Given the description of an element on the screen output the (x, y) to click on. 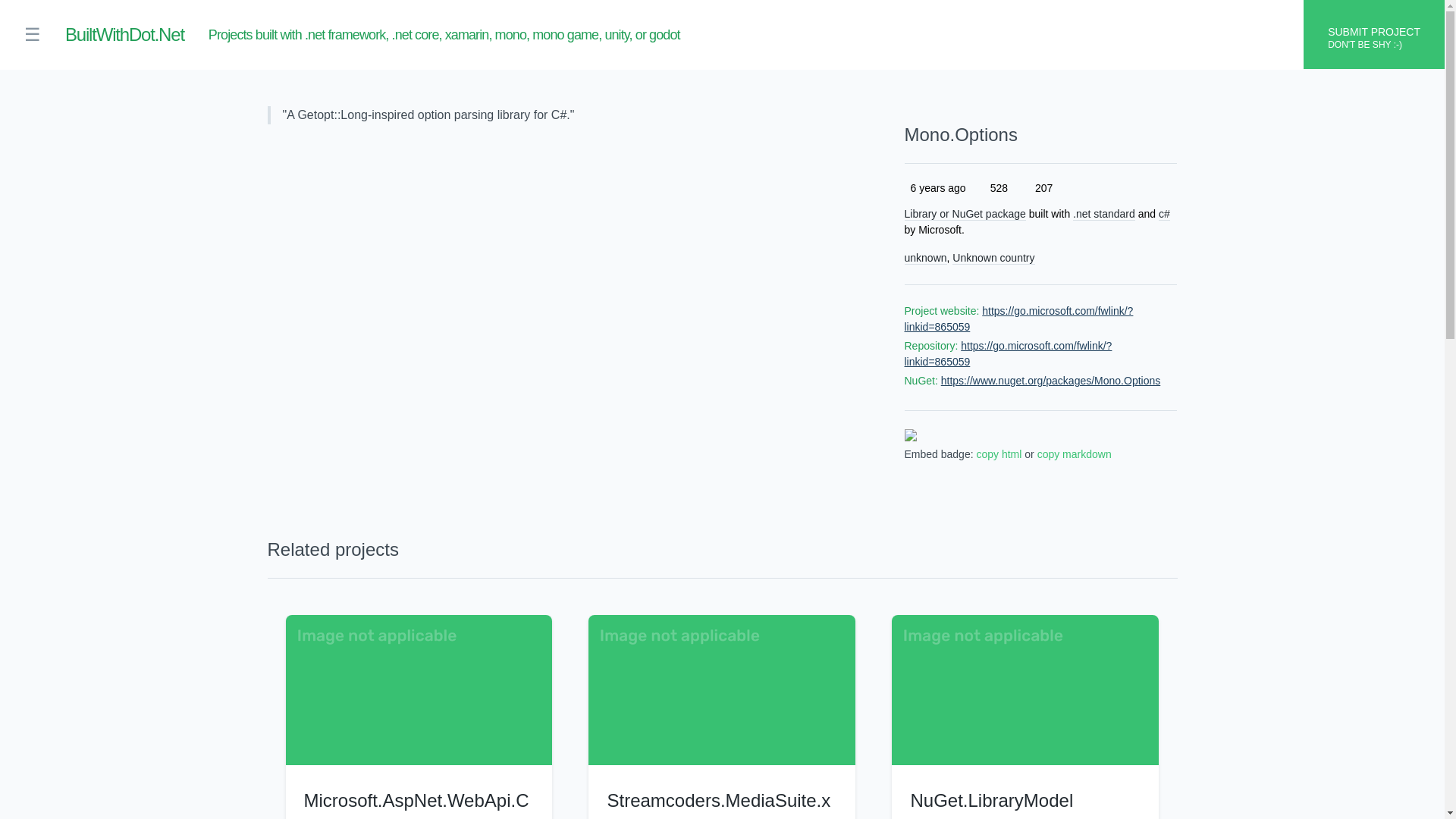
Microsoft.AspNet.WebApi.Cors (415, 804)
Streamcoders.MediaSuite.x64 (718, 804)
copy html (998, 453)
.net standard (1104, 214)
copy markdown (1074, 453)
Library or NuGet package (964, 214)
unknown (925, 257)
BuiltWithDot.Net (124, 34)
Unknown country (992, 257)
